Given the description of an element on the screen output the (x, y) to click on. 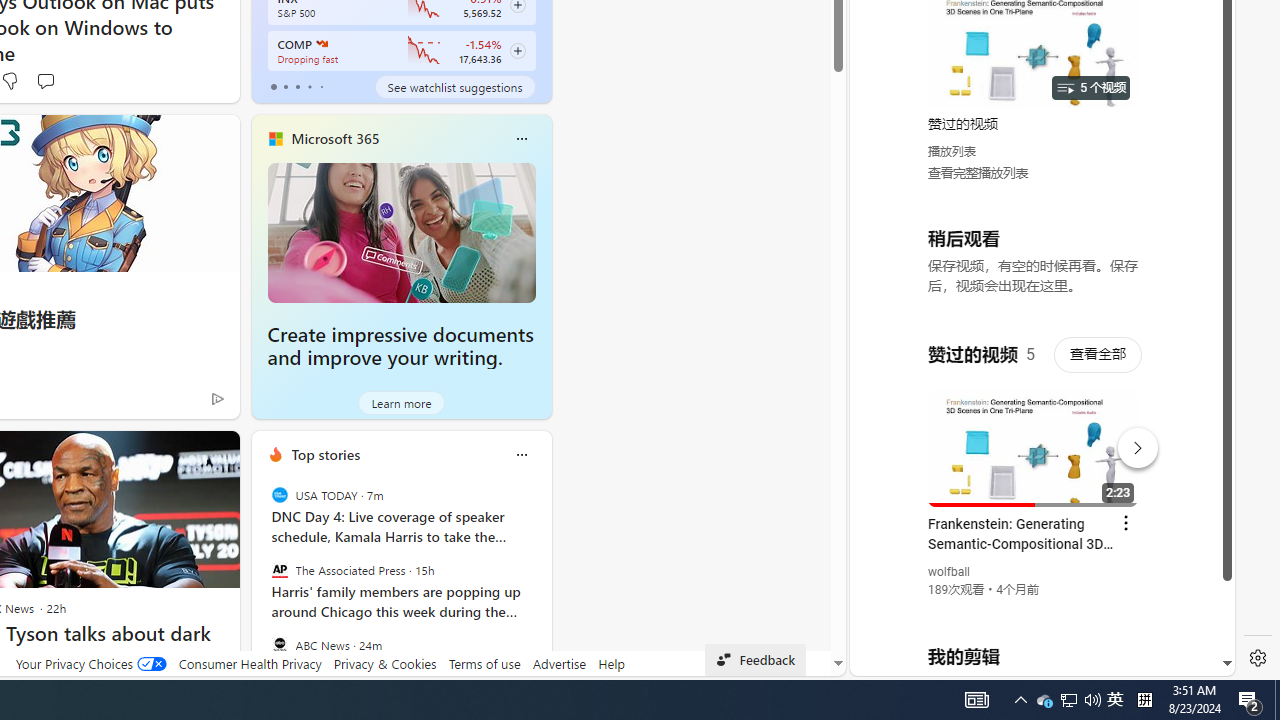
wolfball (949, 572)
YouTube - YouTube (1034, 266)
tab-2 (297, 86)
US[ju] (917, 660)
